Given the description of an element on the screen output the (x, y) to click on. 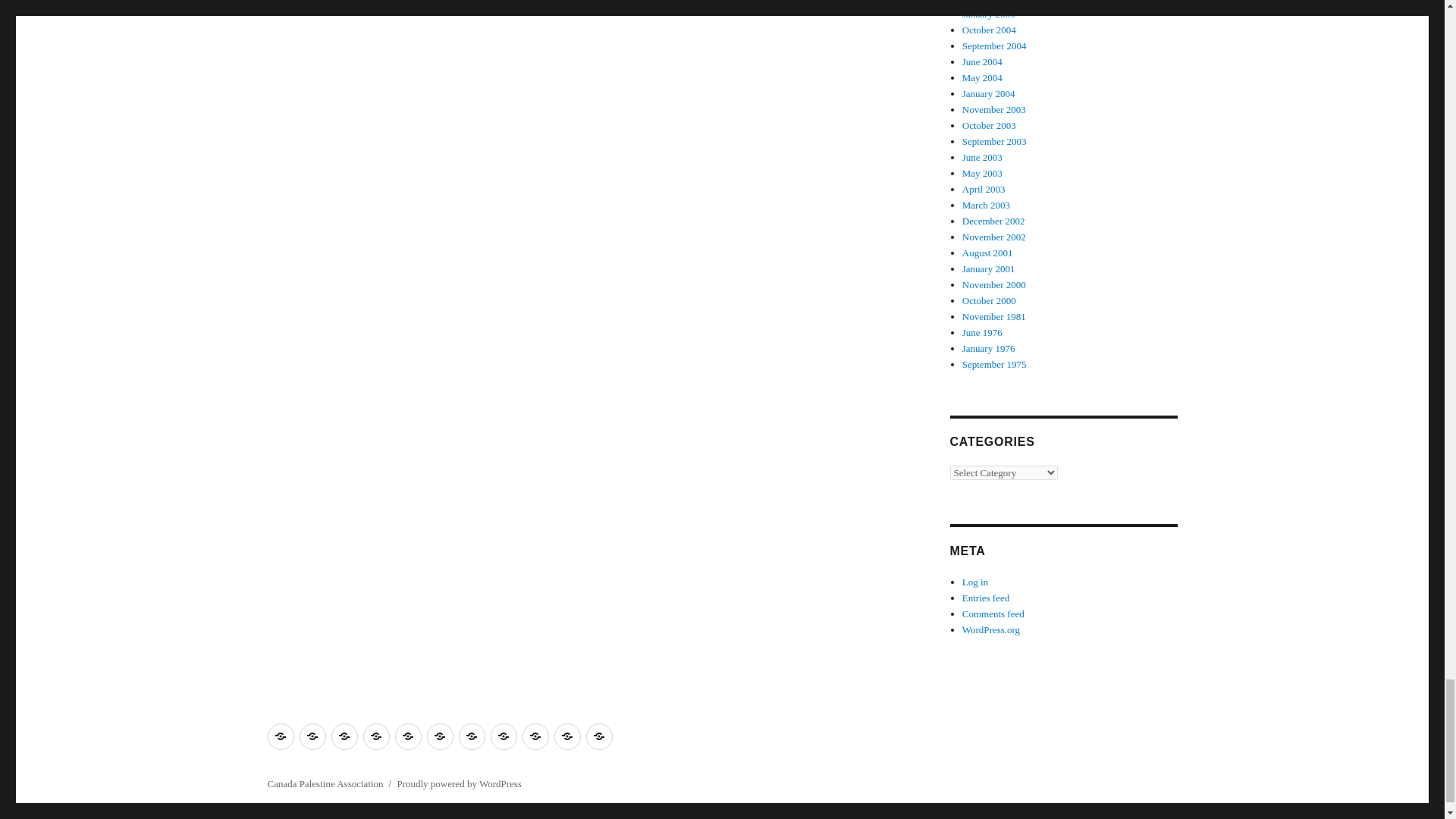
basis-of-unity (311, 736)
